Given the description of an element on the screen output the (x, y) to click on. 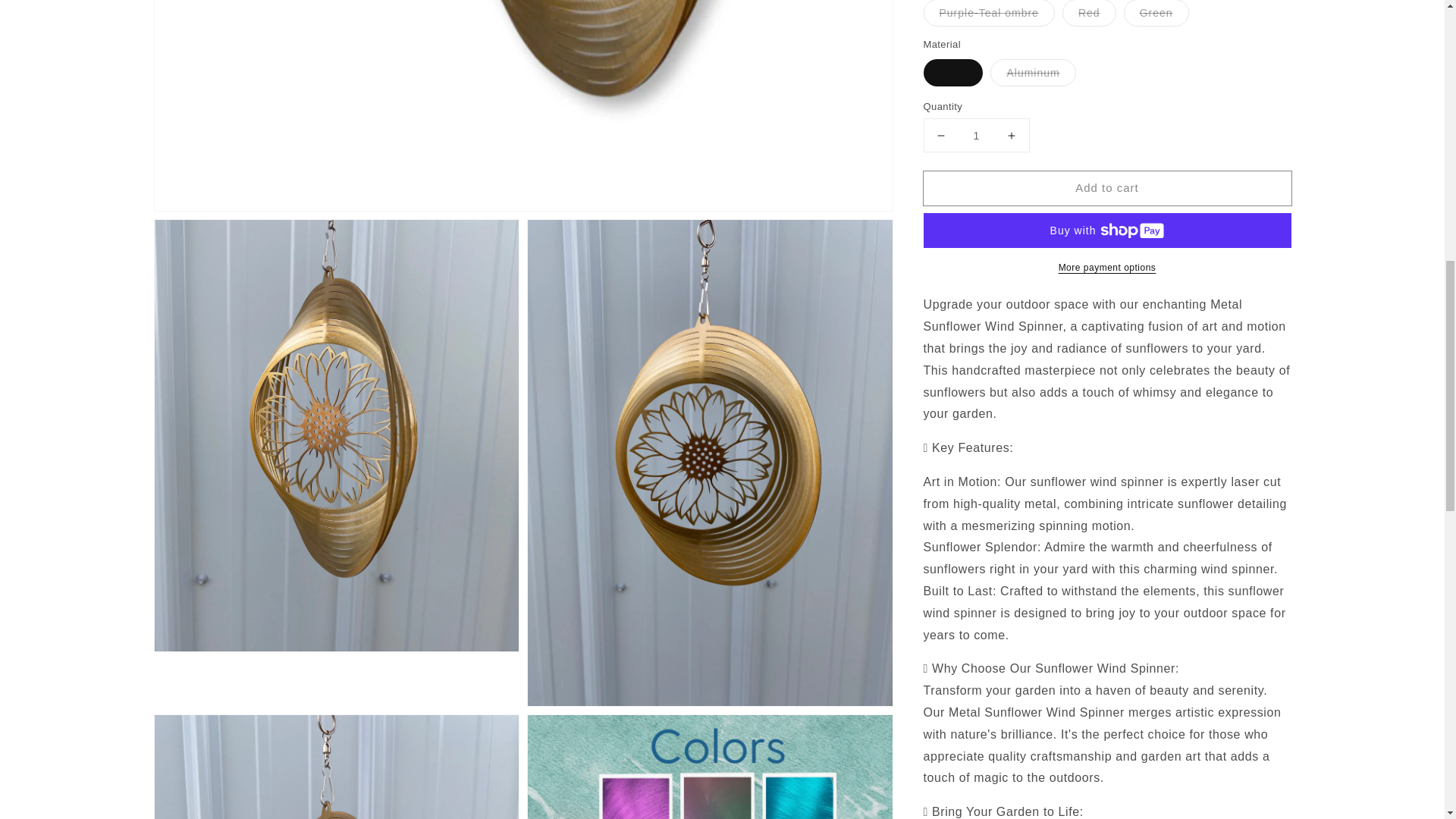
Add to cart (1107, 176)
More payment options (1107, 255)
1 (976, 123)
